Given the description of an element on the screen output the (x, y) to click on. 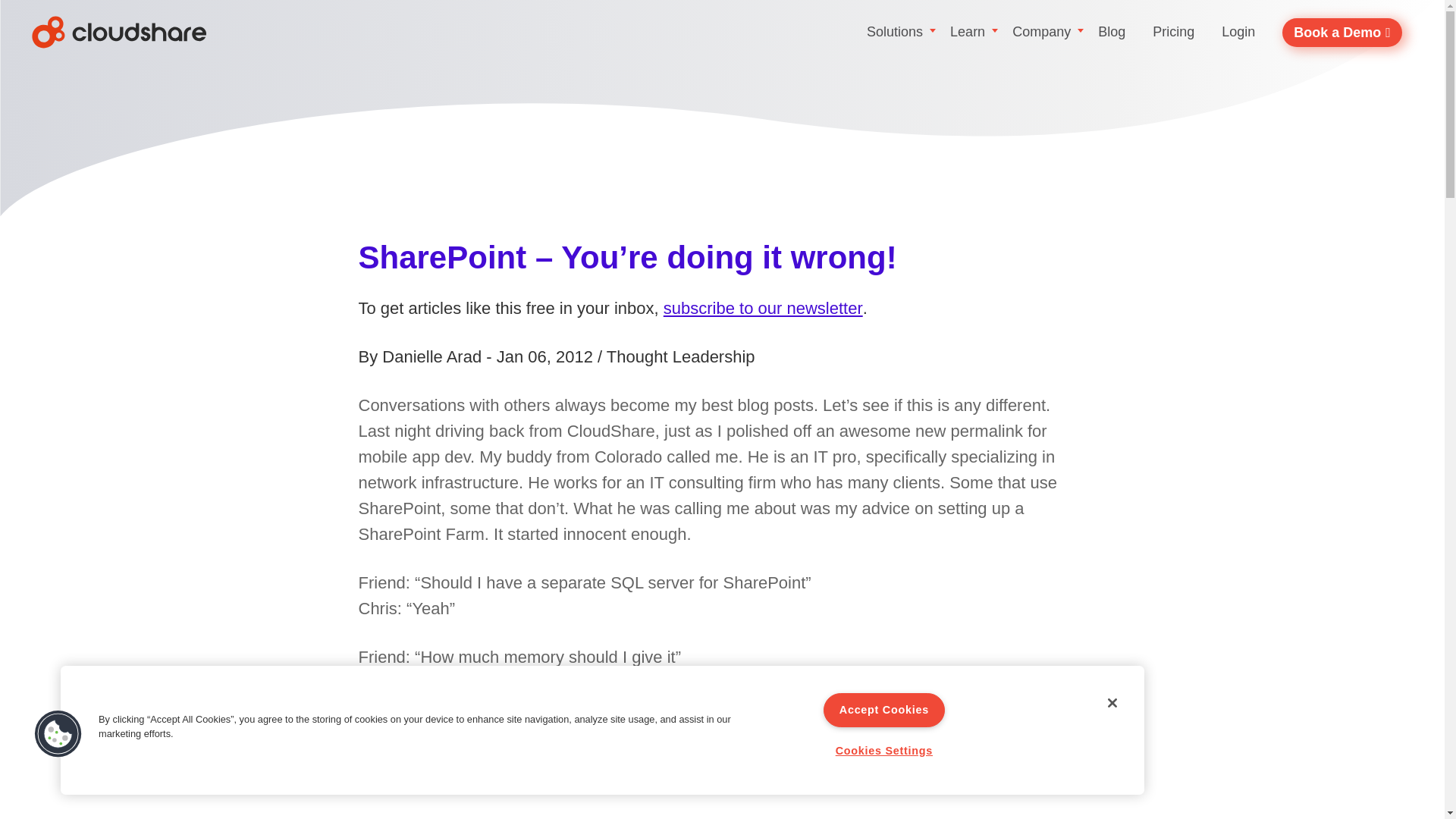
Book a Demo (1342, 32)
Cookies Button (57, 734)
